Given the description of an element on the screen output the (x, y) to click on. 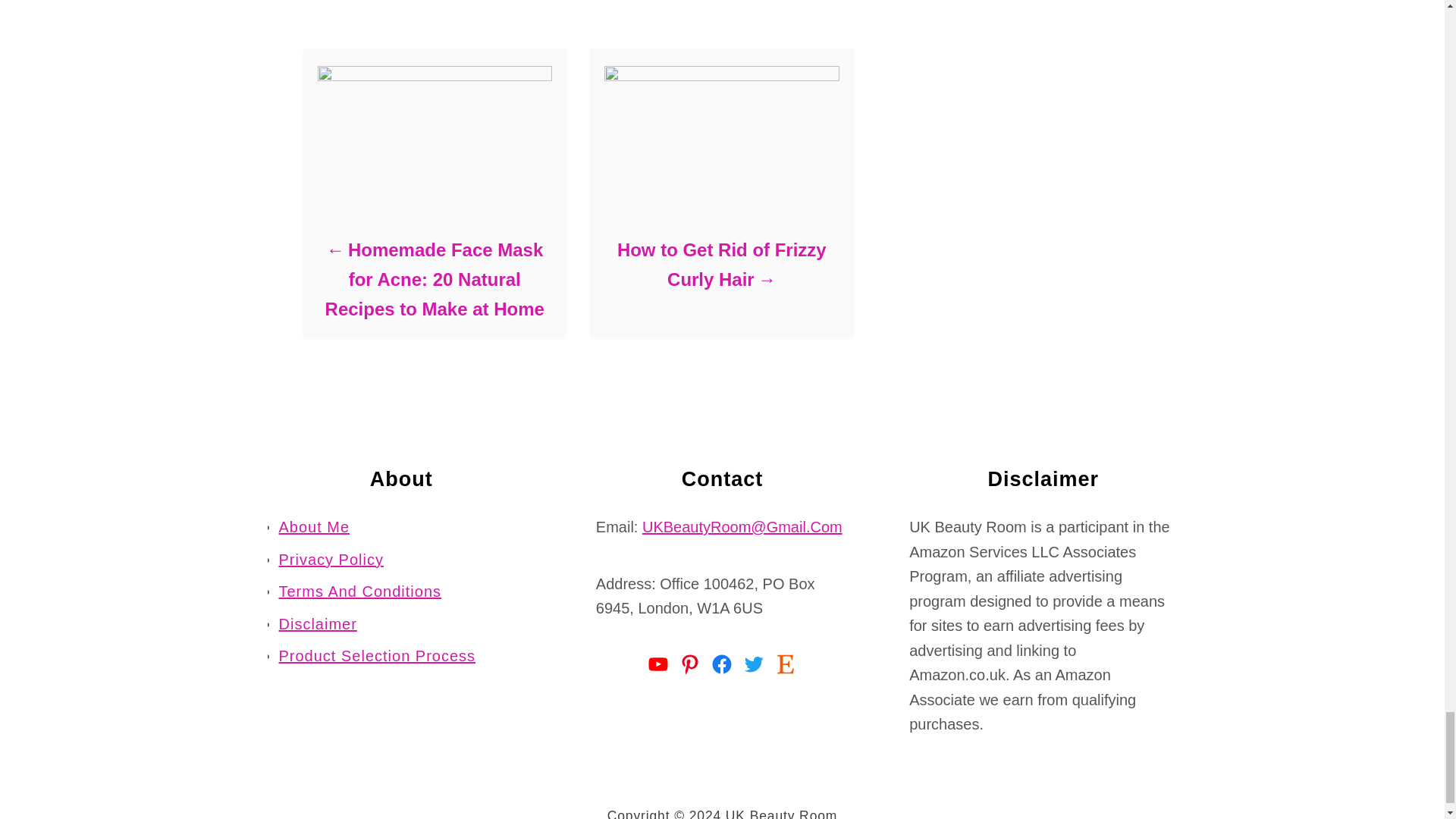
How to Get Rid of Frizzy Curly Hair (721, 264)
